Given the description of an element on the screen output the (x, y) to click on. 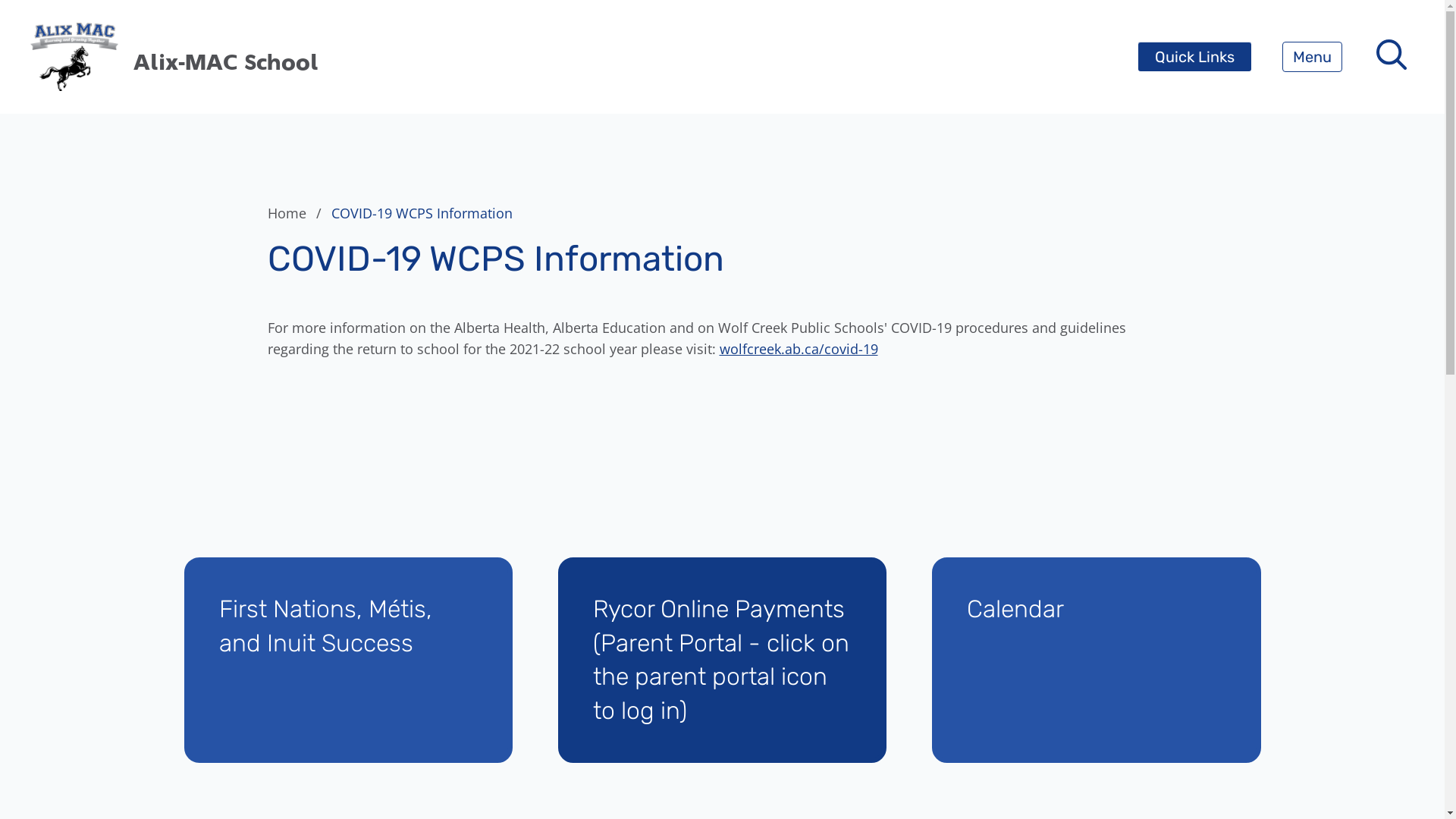
wolfcreek.ab.ca/covid-19 Element type: text (797, 348)
Search Element type: text (45, 19)
home Element type: hover (74, 56)
Calendar Element type: text (1095, 659)
Quick Links Element type: text (1194, 56)
Home Element type: text (296, 212)
Menu Element type: text (1312, 56)
